Given the description of an element on the screen output the (x, y) to click on. 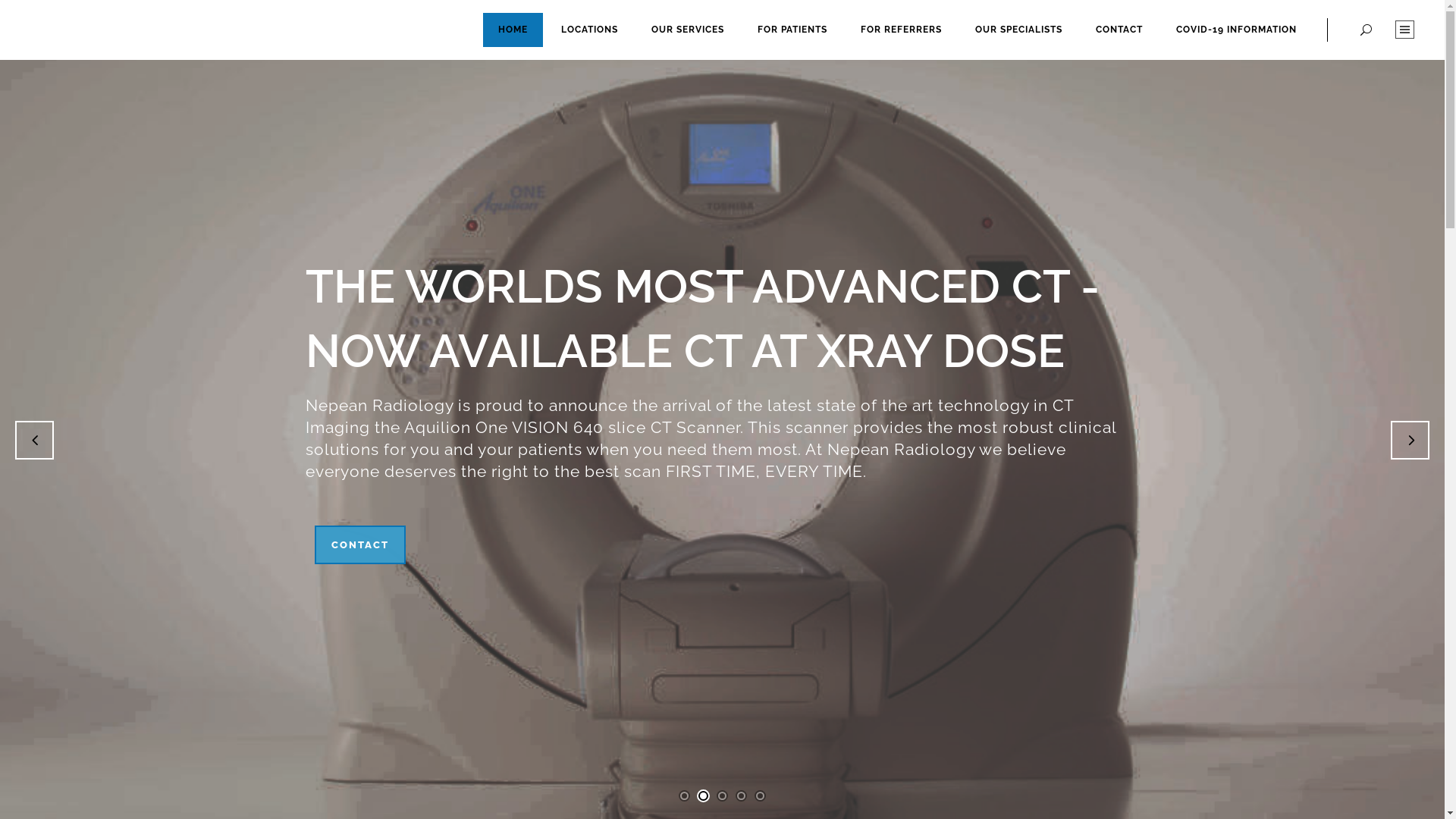
LOCATIONS Element type: text (589, 29)
U Element type: text (997, 409)
  Element type: text (1404, 29)
CONTACT Element type: text (358, 544)
COVID-19 INFORMATION Element type: text (1236, 29)
HOME Element type: text (512, 29)
FOR PATIENTS Element type: text (792, 29)
CONTACT Element type: text (1118, 29)
FOR REFERRERS Element type: text (901, 29)
OUR SPECIALISTS Element type: text (1018, 29)
OUR SERVICES Element type: text (687, 29)
